Given the description of an element on the screen output the (x, y) to click on. 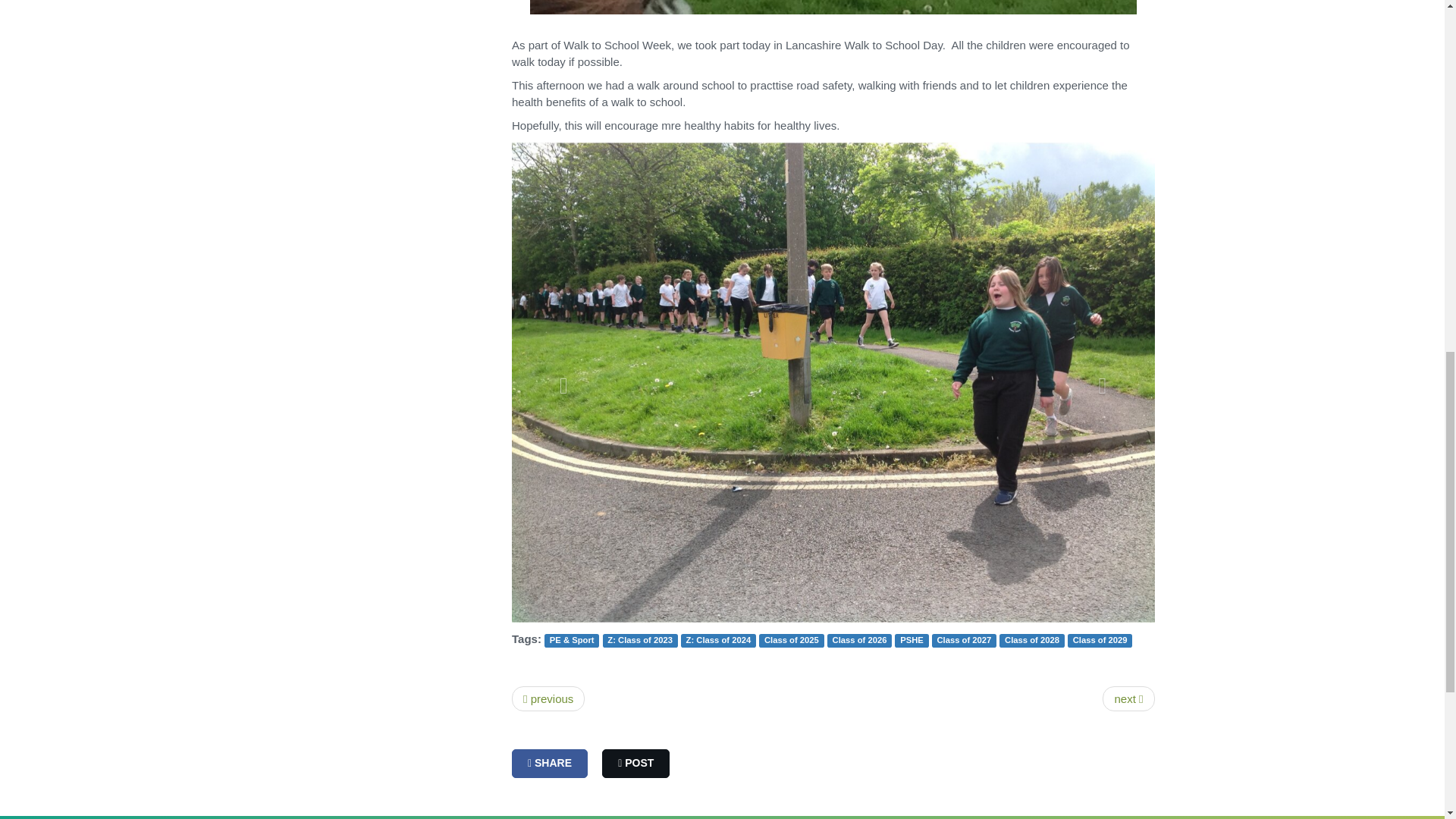
Fabulous Flowers! (548, 698)
Cracking Cricket! (1128, 698)
Post on X (635, 763)
Share on Facebook (550, 763)
